Given the description of an element on the screen output the (x, y) to click on. 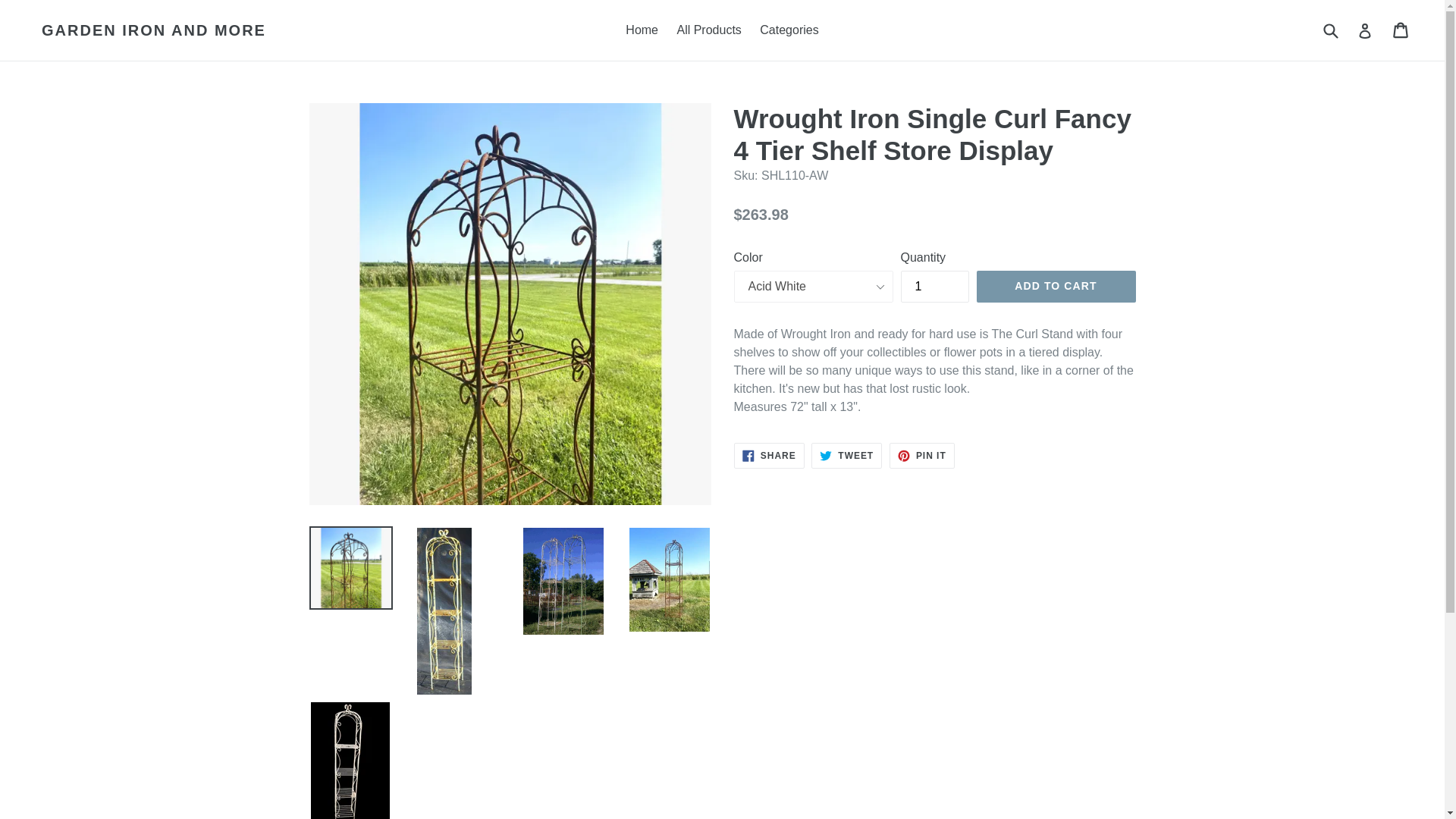
GARDEN IRON AND MORE (154, 30)
Home (641, 29)
Share on Facebook (769, 455)
Tweet on Twitter (846, 455)
1 (769, 455)
ADD TO CART (935, 286)
All Products (1055, 286)
Pin on Pinterest (846, 455)
Categories (708, 29)
